Given the description of an element on the screen output the (x, y) to click on. 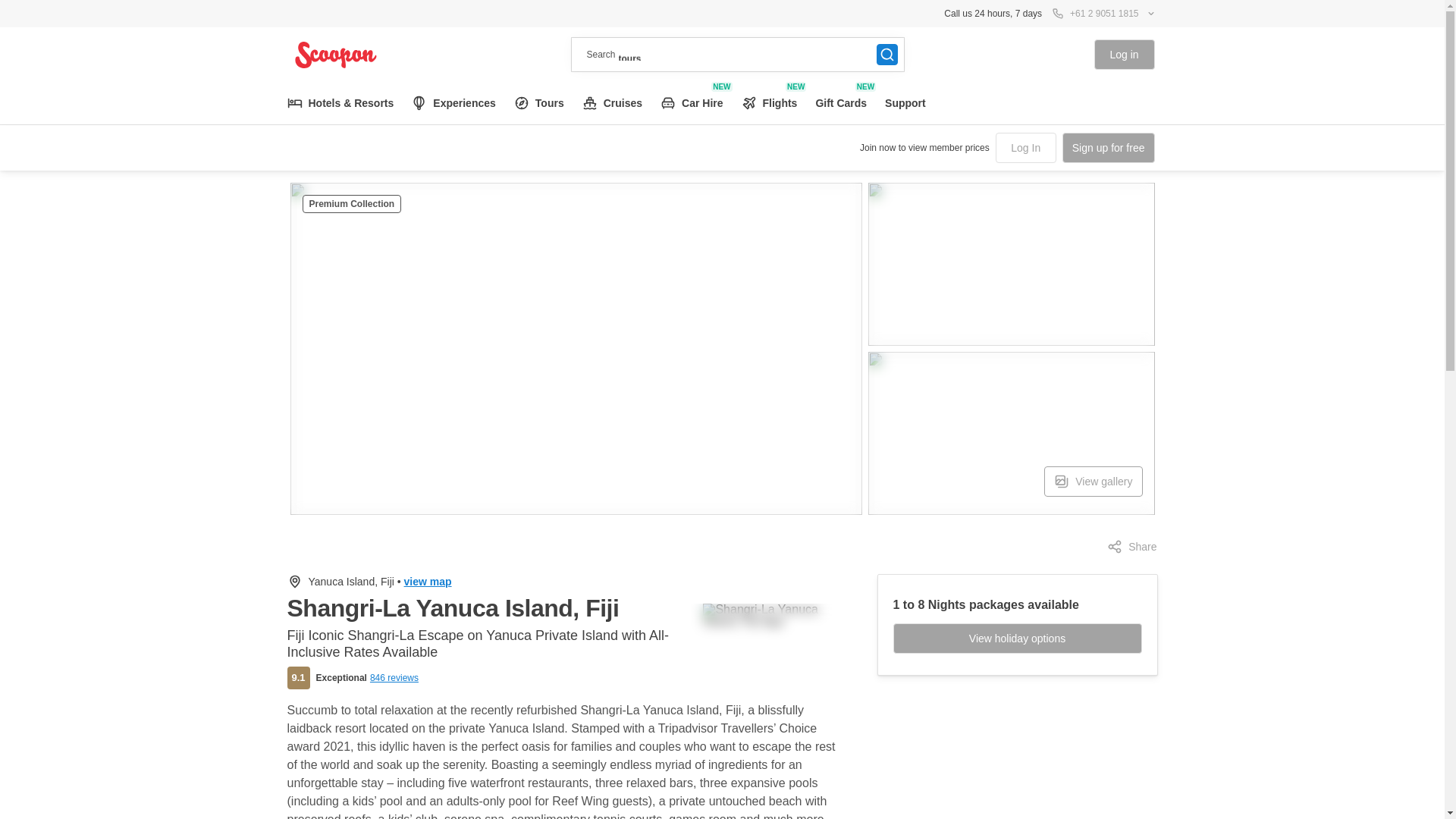
View holiday options (1017, 638)
846 reviews (394, 677)
Log in (1123, 54)
Cruises (611, 102)
View gallery (1092, 481)
Tours (539, 102)
Log In (769, 102)
view map (1026, 147)
Scoopon (427, 581)
Share (334, 53)
Experiences (1108, 147)
Support (1131, 546)
